Given the description of an element on the screen output the (x, y) to click on. 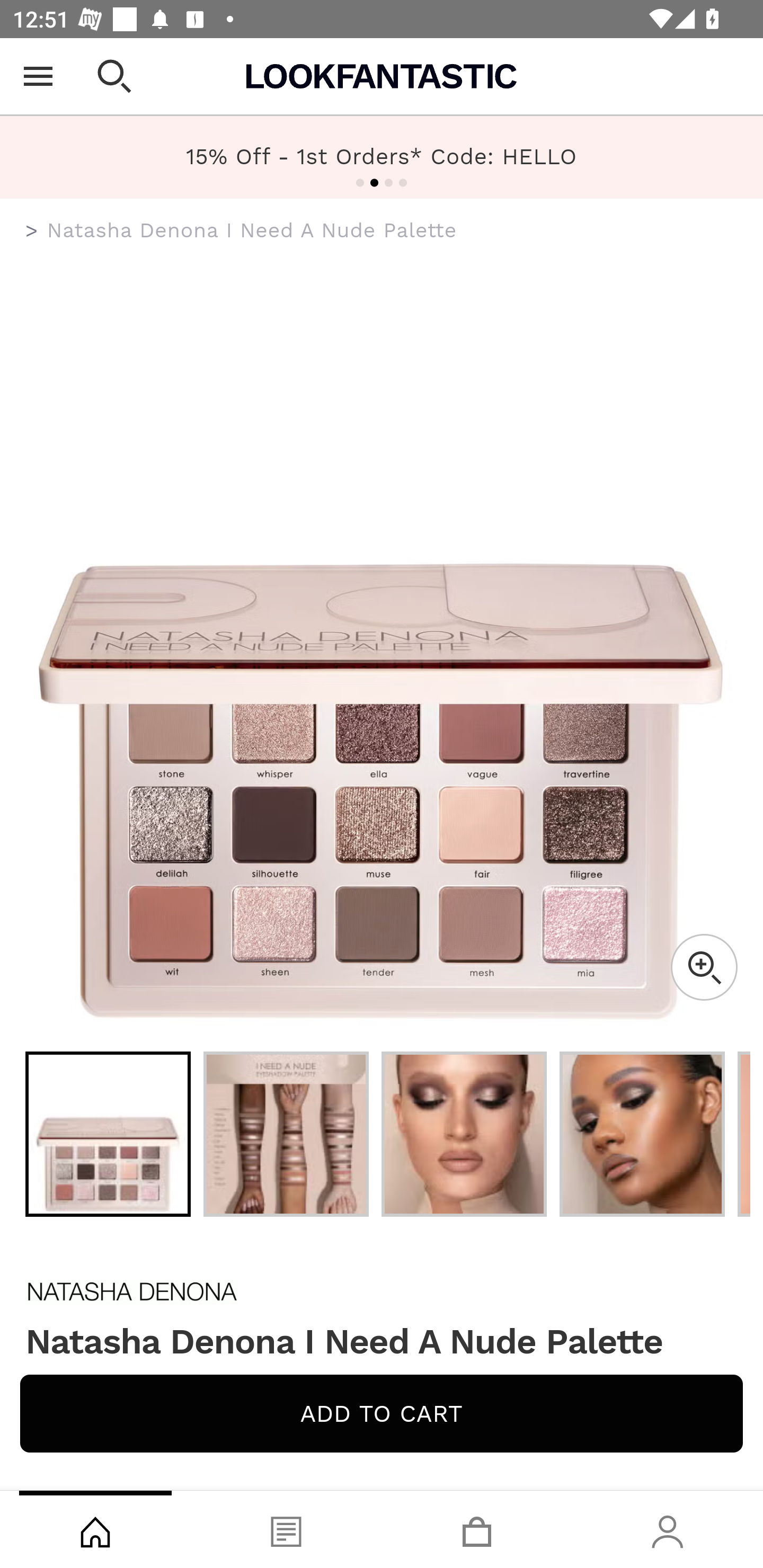
Open Menu (38, 75)
Open search (114, 75)
Lookfantastic USA (381, 75)
us.lookfantastic (32, 230)
Zoom (703, 966)
Natasha Denona (381, 1291)
Add to cart (381, 1413)
Shop, tab, 1 of 4 (95, 1529)
Blog, tab, 2 of 4 (285, 1529)
Basket, tab, 3 of 4 (476, 1529)
Account, tab, 4 of 4 (667, 1529)
